Given the description of an element on the screen output the (x, y) to click on. 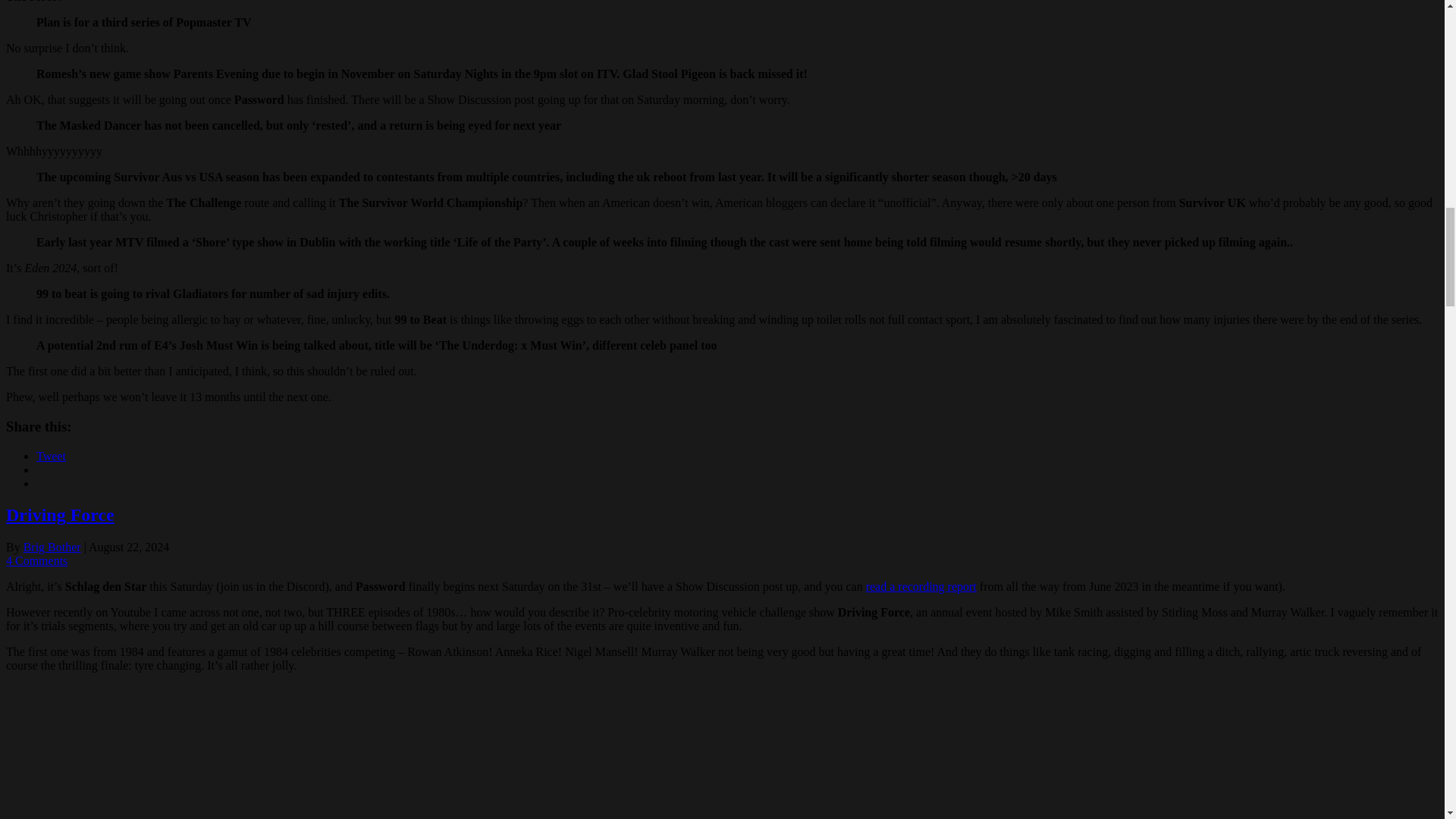
Permalink to Driving Force (60, 514)
4 Comments (35, 560)
Driving Force (60, 514)
Tweet (50, 454)
read a recording report (921, 585)
Brig Bother (52, 546)
Posts by Brig Bother (52, 546)
